Given the description of an element on the screen output the (x, y) to click on. 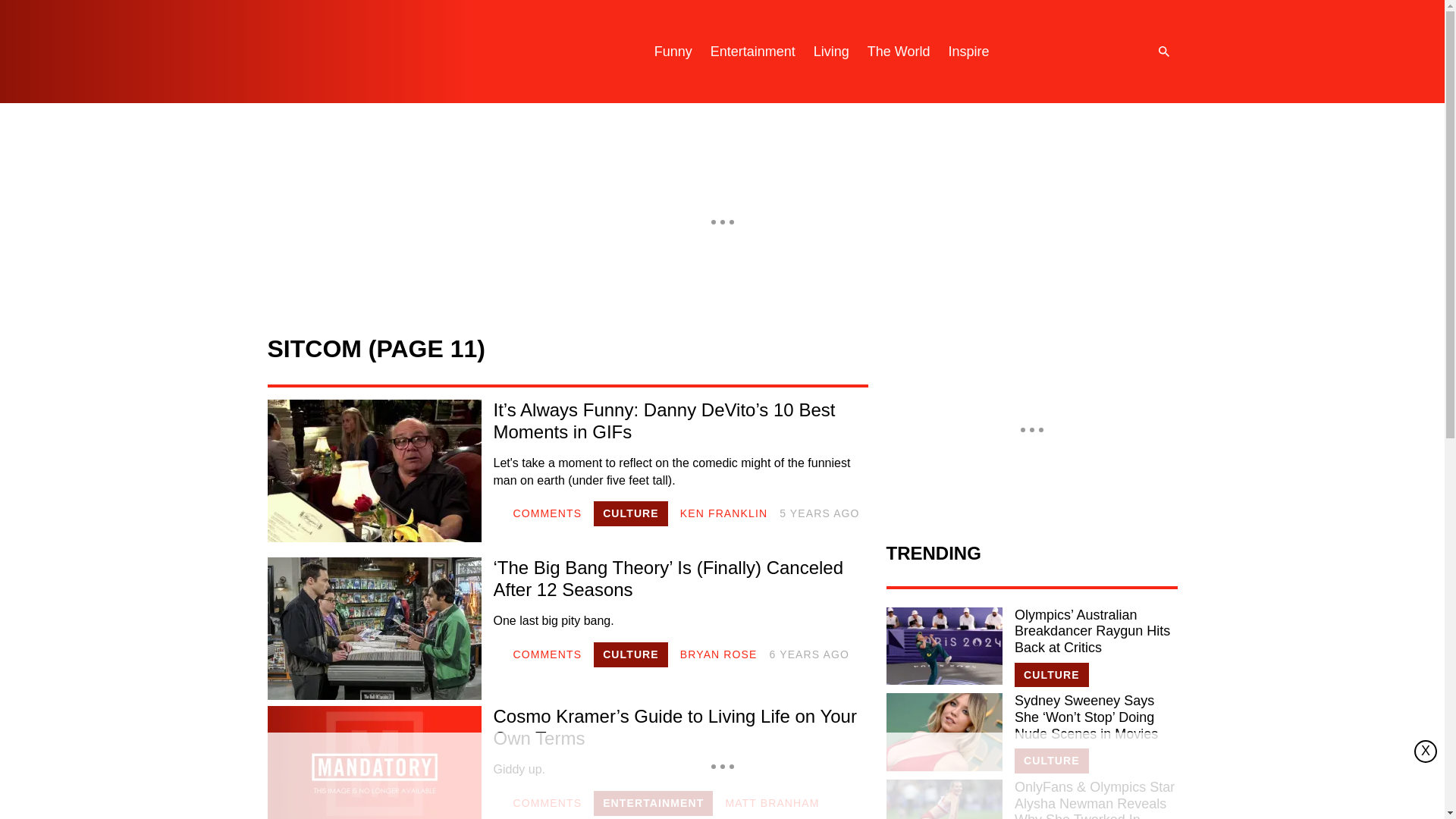
CULTURE (631, 654)
CULTURE (631, 513)
Living (832, 51)
Inspire (968, 51)
Funny (673, 51)
Twitter (1079, 51)
The World (899, 51)
KEN FRANKLIN (723, 512)
Facebook (1109, 51)
Instagram (1048, 51)
